Given the description of an element on the screen output the (x, y) to click on. 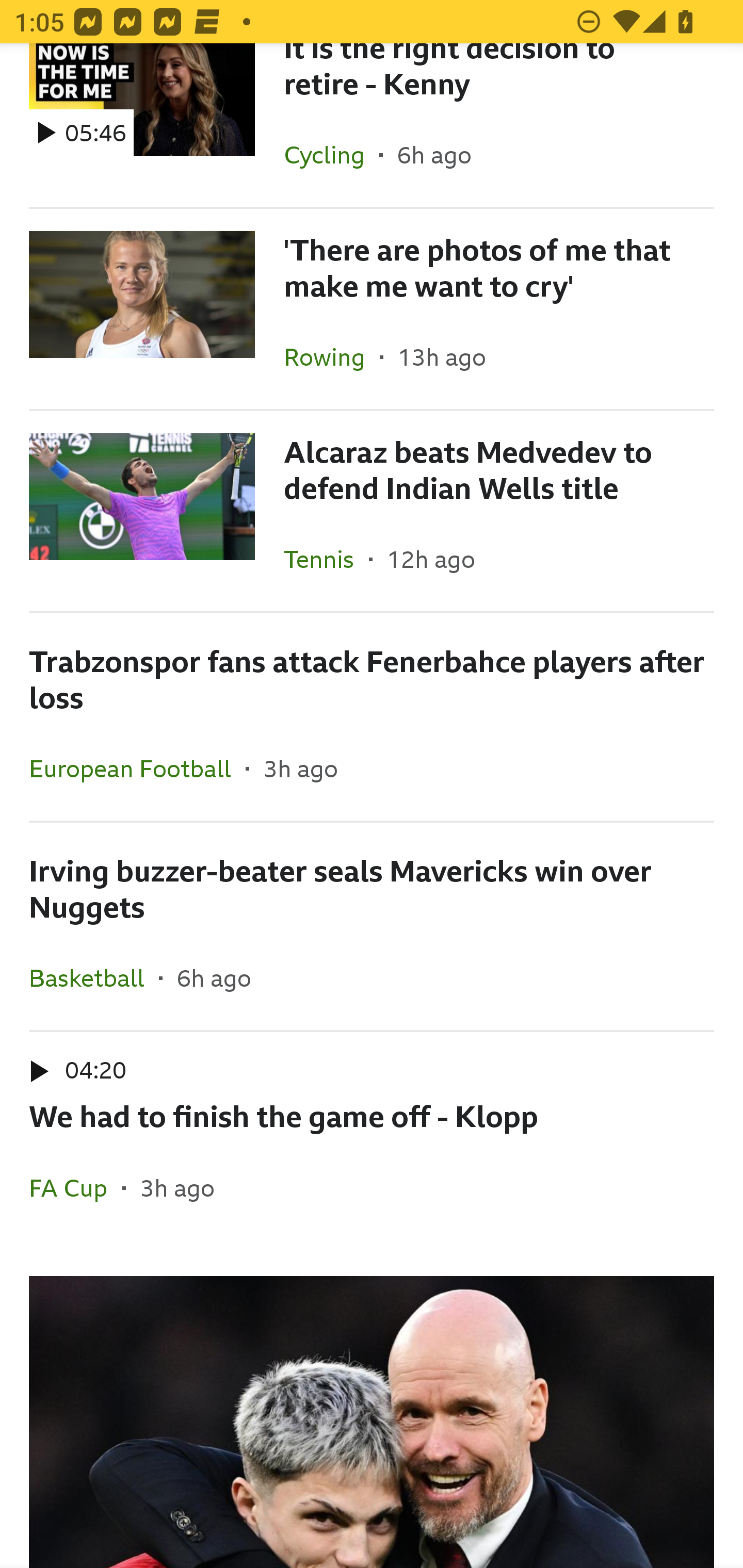
Cycling In the section Cycling (330, 153)
Rowing In the section Rowing (331, 356)
Tennis In the section Tennis (326, 558)
European Football In the section European Football (136, 768)
Basketball In the section Basketball (93, 977)
FA Cup In the section FA Cup (75, 1187)
